Given the description of an element on the screen output the (x, y) to click on. 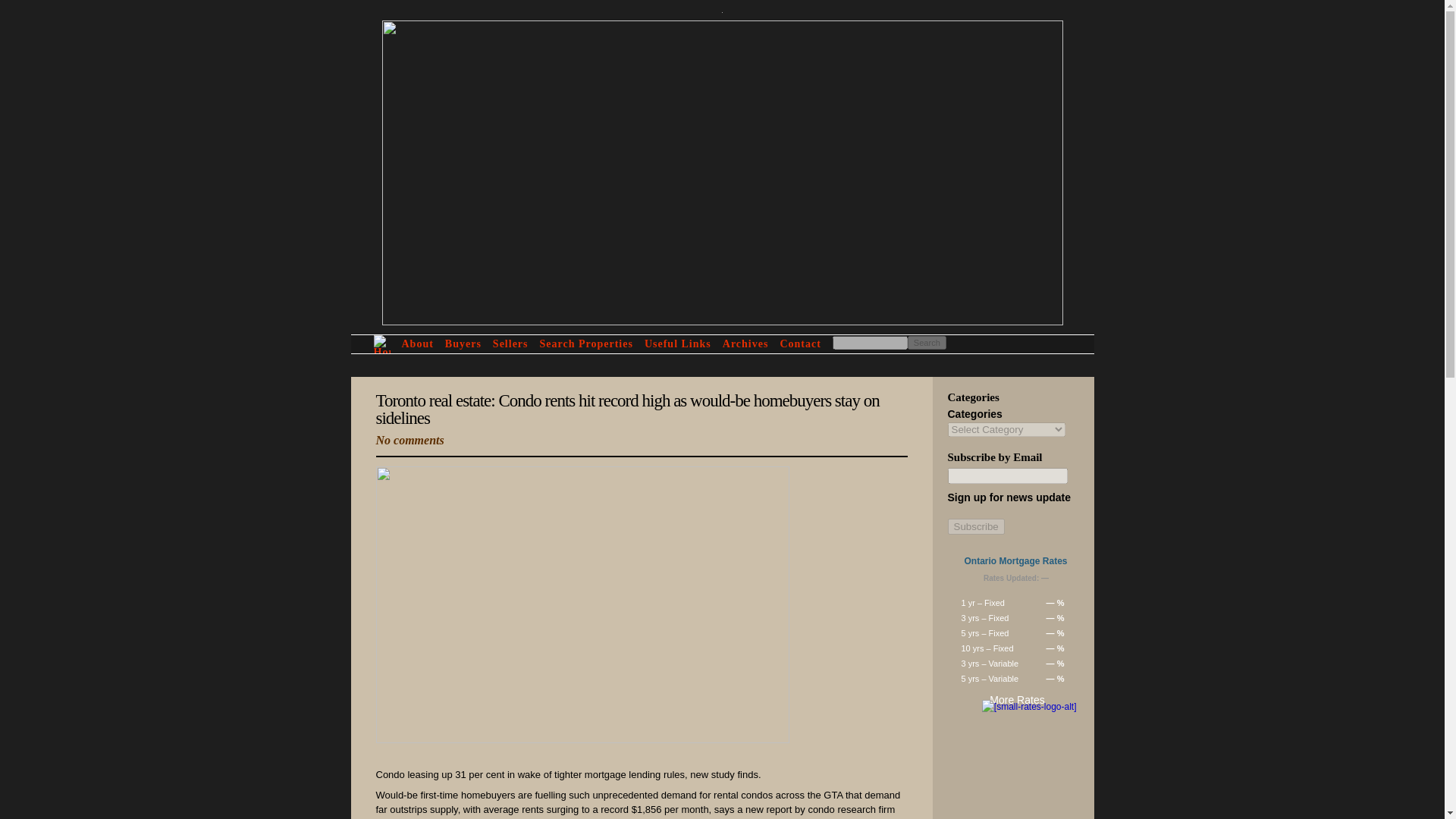
See all Ontario 3-Year Fixed mortgage rates (1016, 617)
See all Ontario mortgage rates at ratehub.ca (1029, 707)
Sellers (510, 344)
Theo Wu (733, 60)
See all Ontario 1-Year Fixed mortgage rates (1016, 602)
Subscribe (975, 526)
Compare Ontario mortgage rates at ratehub.ca (1007, 701)
See all Ontario 3-Year Variable mortgage rates (1016, 663)
Compare lowest mortgage rates in Ontario at ratehub.ca (1015, 561)
See all Ontario 5-Year Variable mortgage rates (1016, 678)
See all Ontario 10-Year Fixed mortgage rates (1016, 648)
About (417, 344)
Search Properties (586, 344)
Useful Links (678, 344)
Buyers (463, 344)
